Given the description of an element on the screen output the (x, y) to click on. 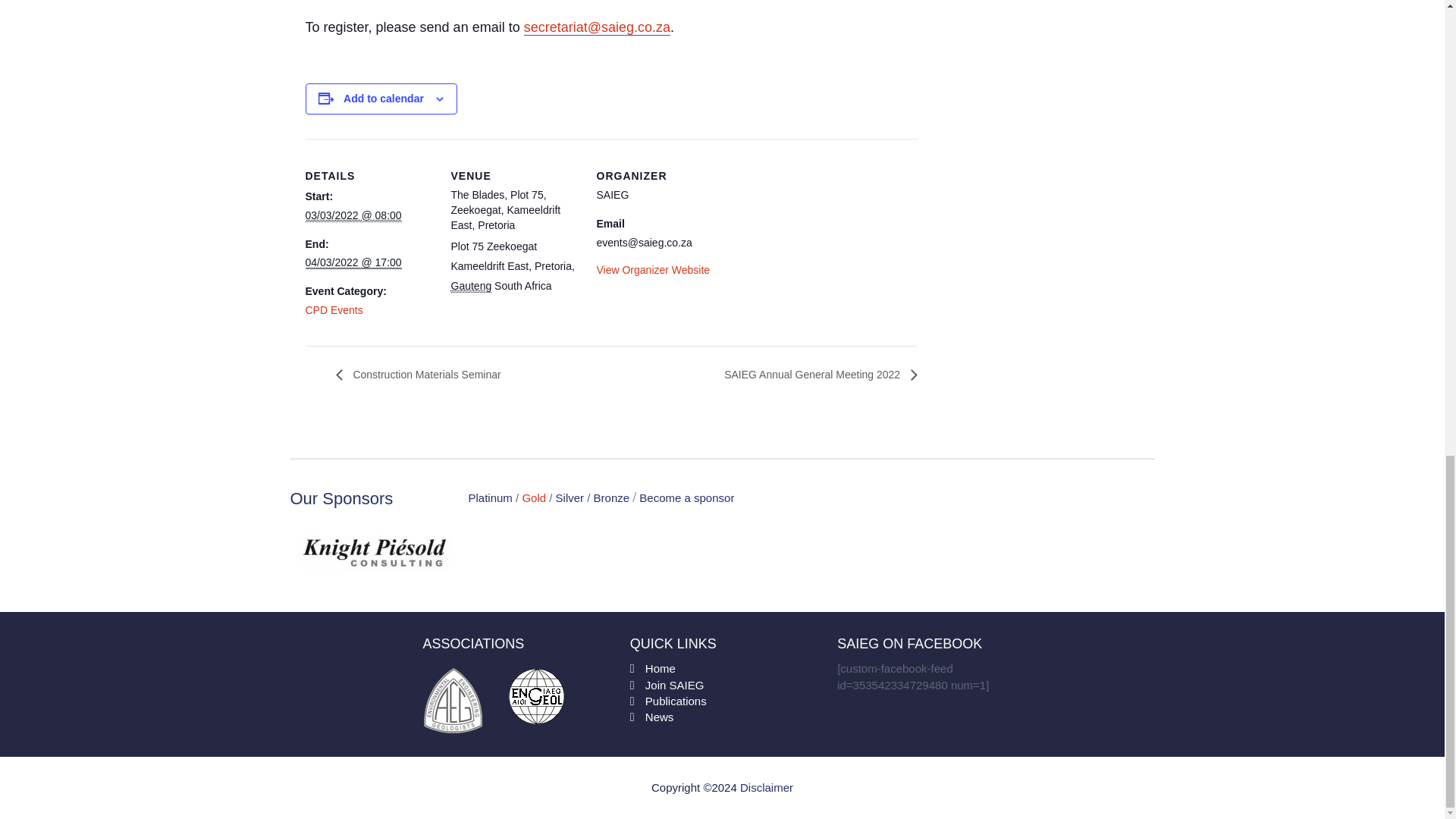
2022-03-04 (352, 262)
Gauteng (470, 286)
2022-03-03 (352, 215)
